Given the description of an element on the screen output the (x, y) to click on. 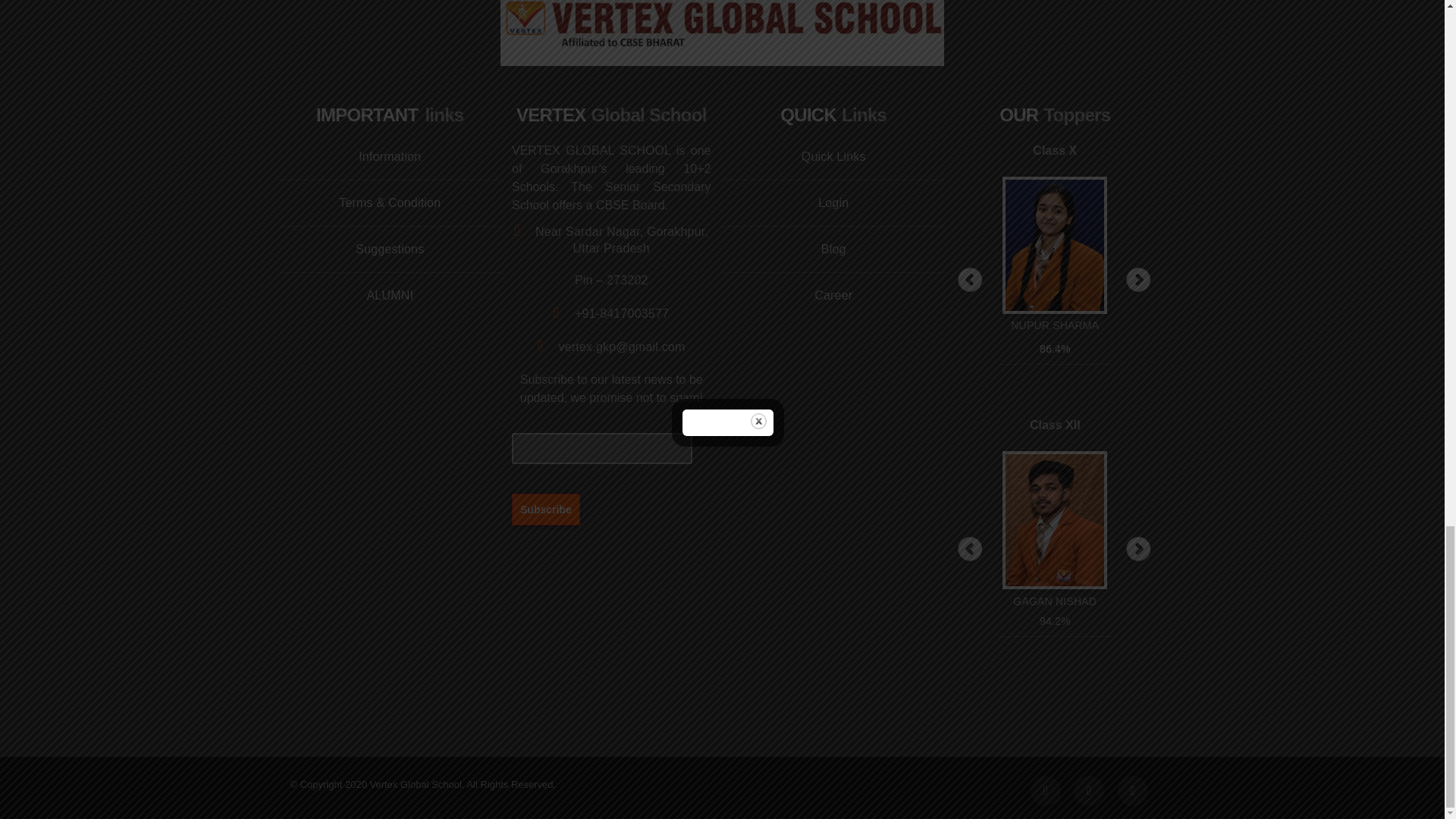
Subscribe (545, 508)
